Given the description of an element on the screen output the (x, y) to click on. 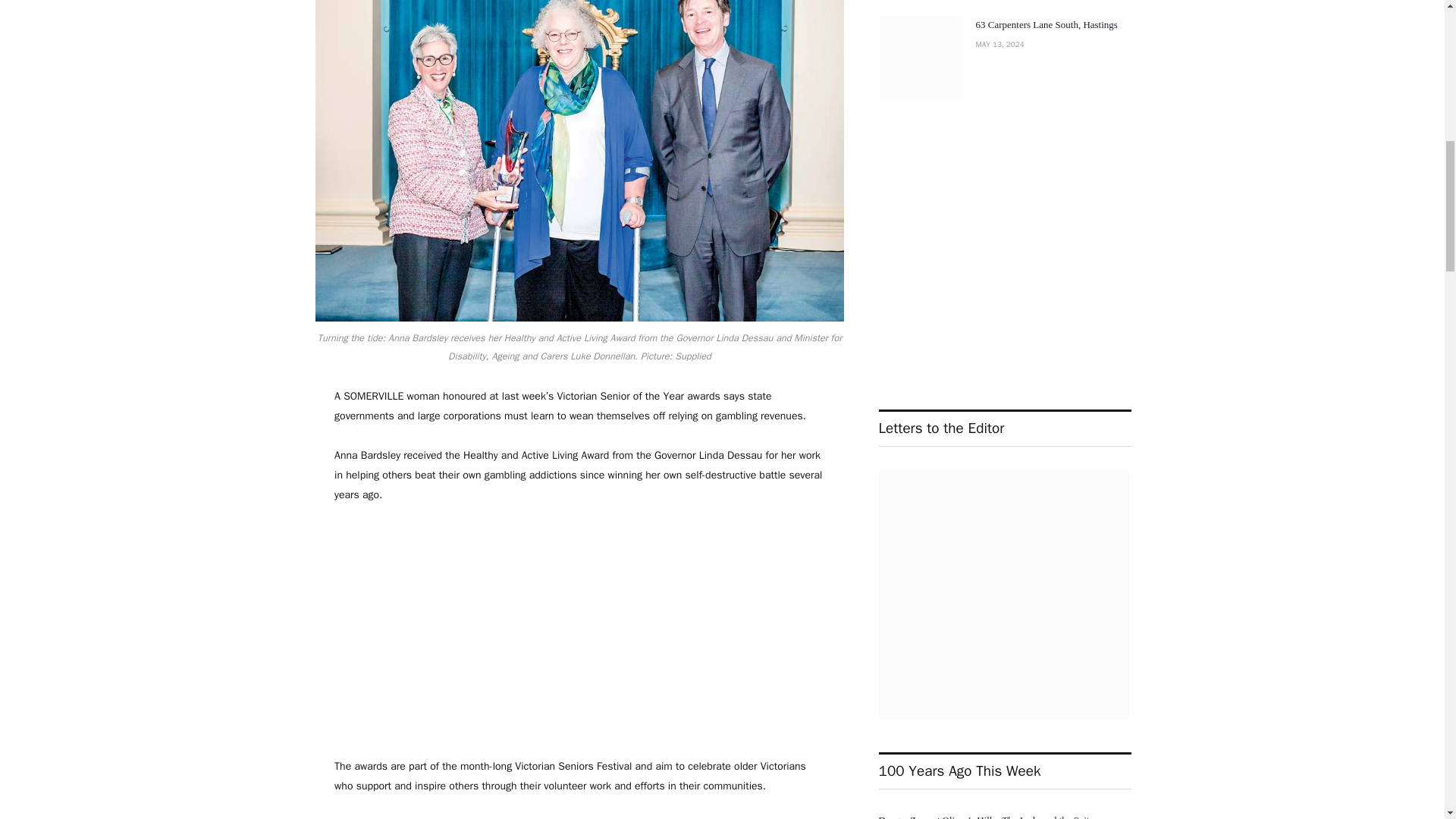
Advertisement (579, 630)
